Given the description of an element on the screen output the (x, y) to click on. 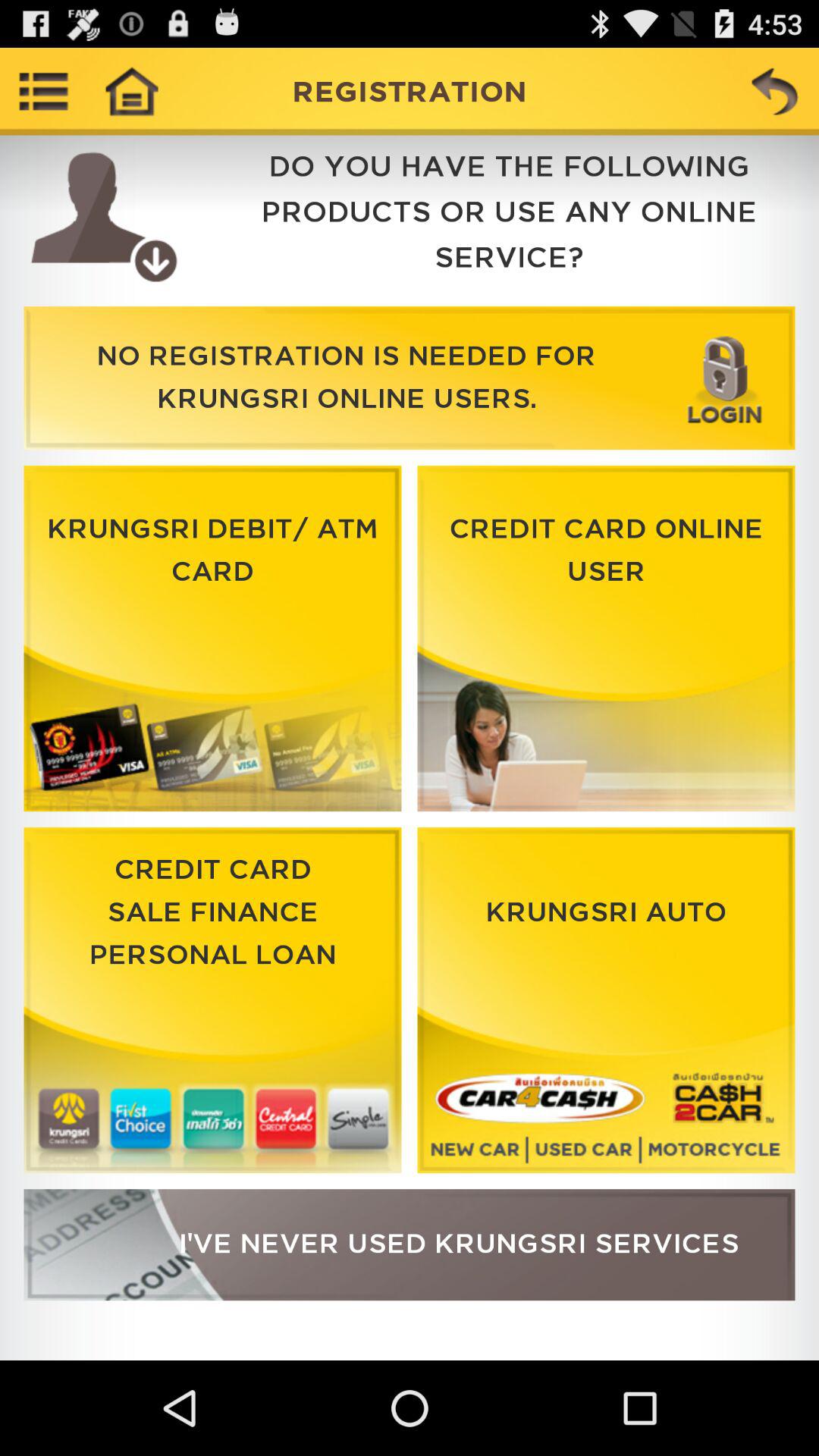
tab to go home page toggle to home page (131, 91)
